Given the description of an element on the screen output the (x, y) to click on. 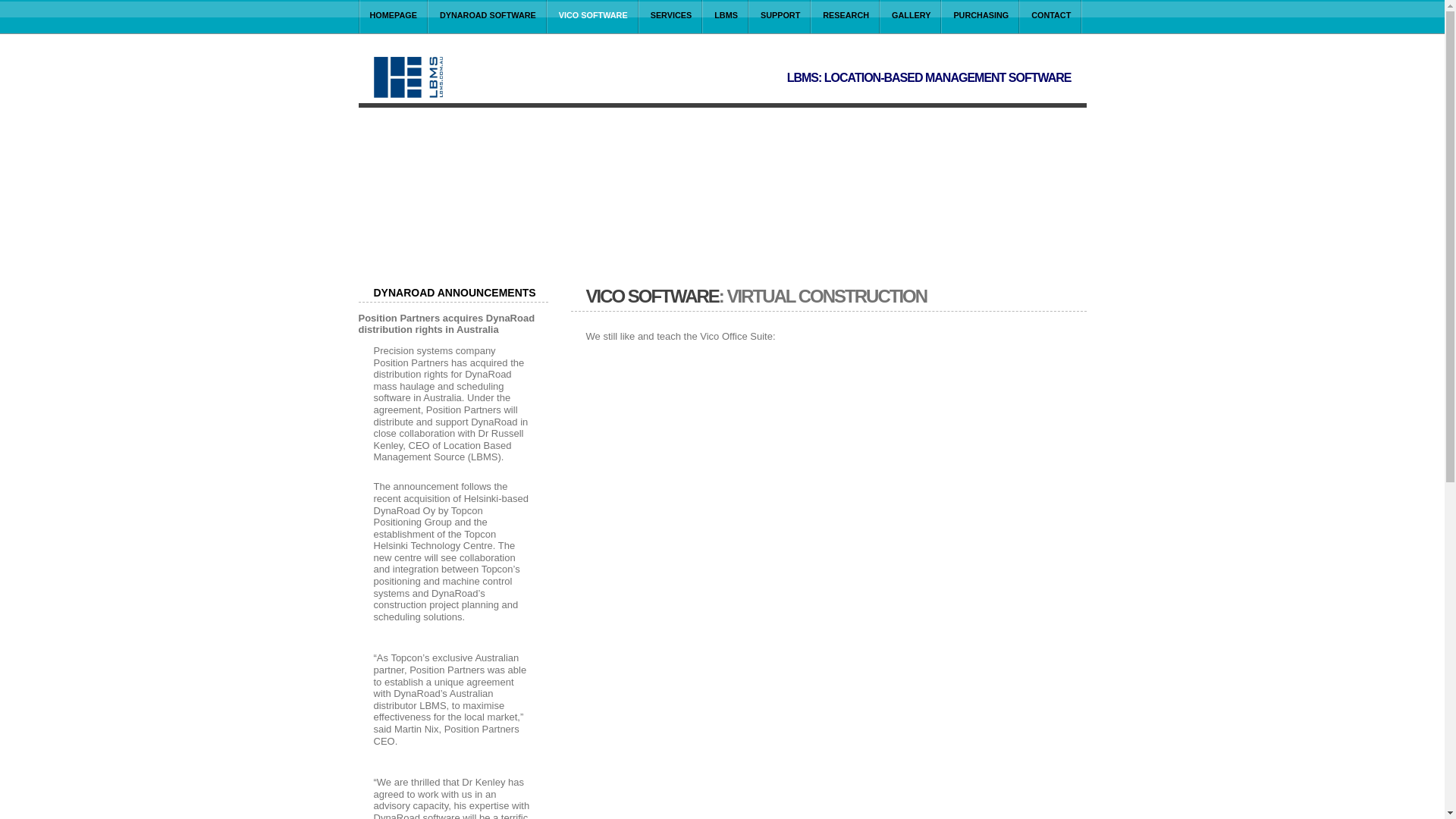
VICO SOFTWARE Element type: text (593, 24)
VICO SOFTWARE Element type: text (651, 295)
HOMEPAGE Element type: text (392, 15)
GALLERY Element type: text (910, 15)
RESEARCH Element type: text (845, 15)
SERVICES Element type: text (671, 15)
DYNAROAD SOFTWARE Element type: text (487, 15)
LBMS Element type: text (725, 15)
CONTACT Element type: text (1050, 15)
SUPPORT Element type: text (780, 15)
PURCHASING Element type: text (980, 15)
